Given the description of an element on the screen output the (x, y) to click on. 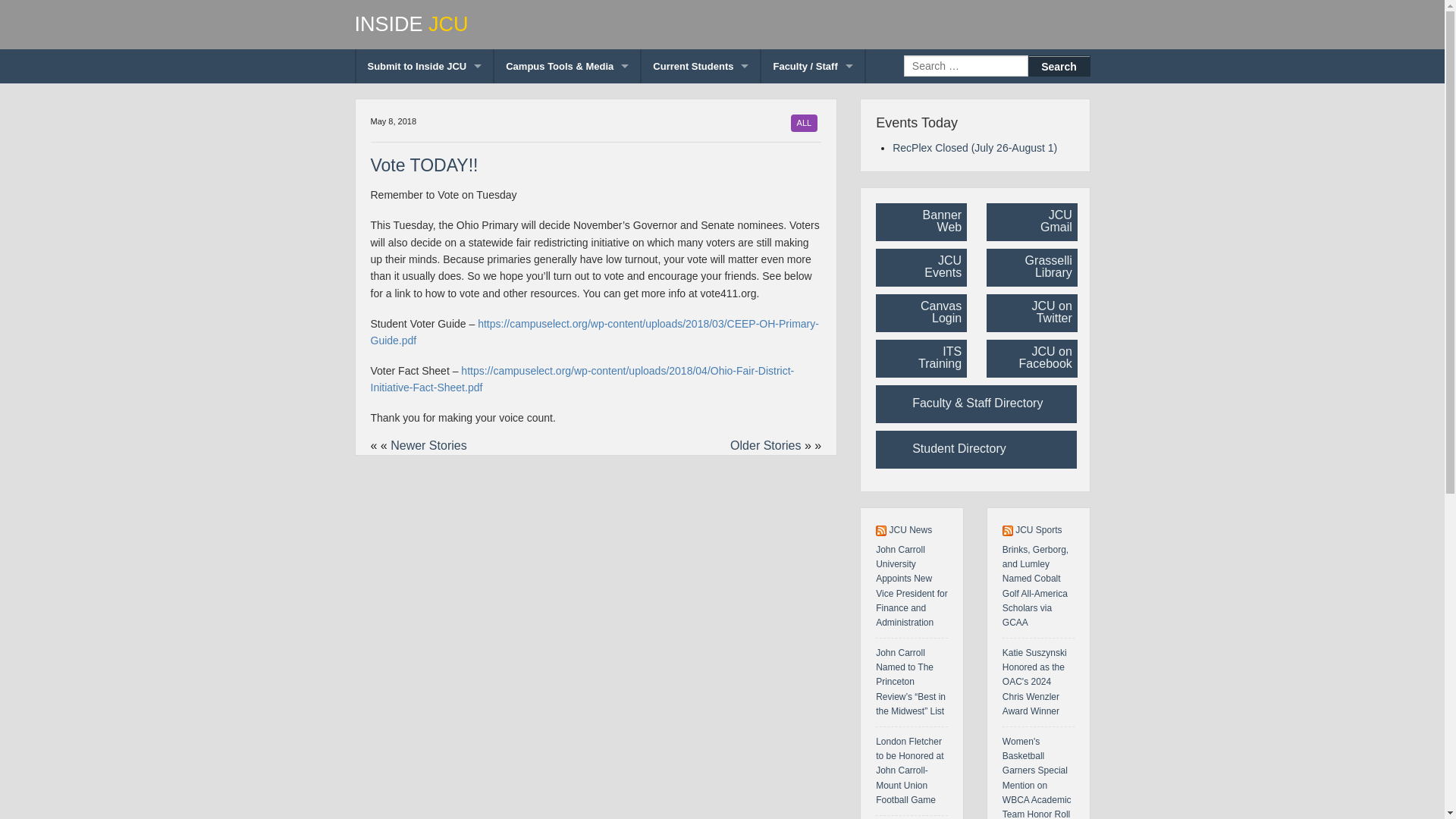
Search for: (965, 65)
INSIDE JCU (722, 24)
Submit to Inside JCU (424, 66)
Search (1058, 65)
Current Students (701, 66)
Search (1058, 65)
